Given the description of an element on the screen output the (x, y) to click on. 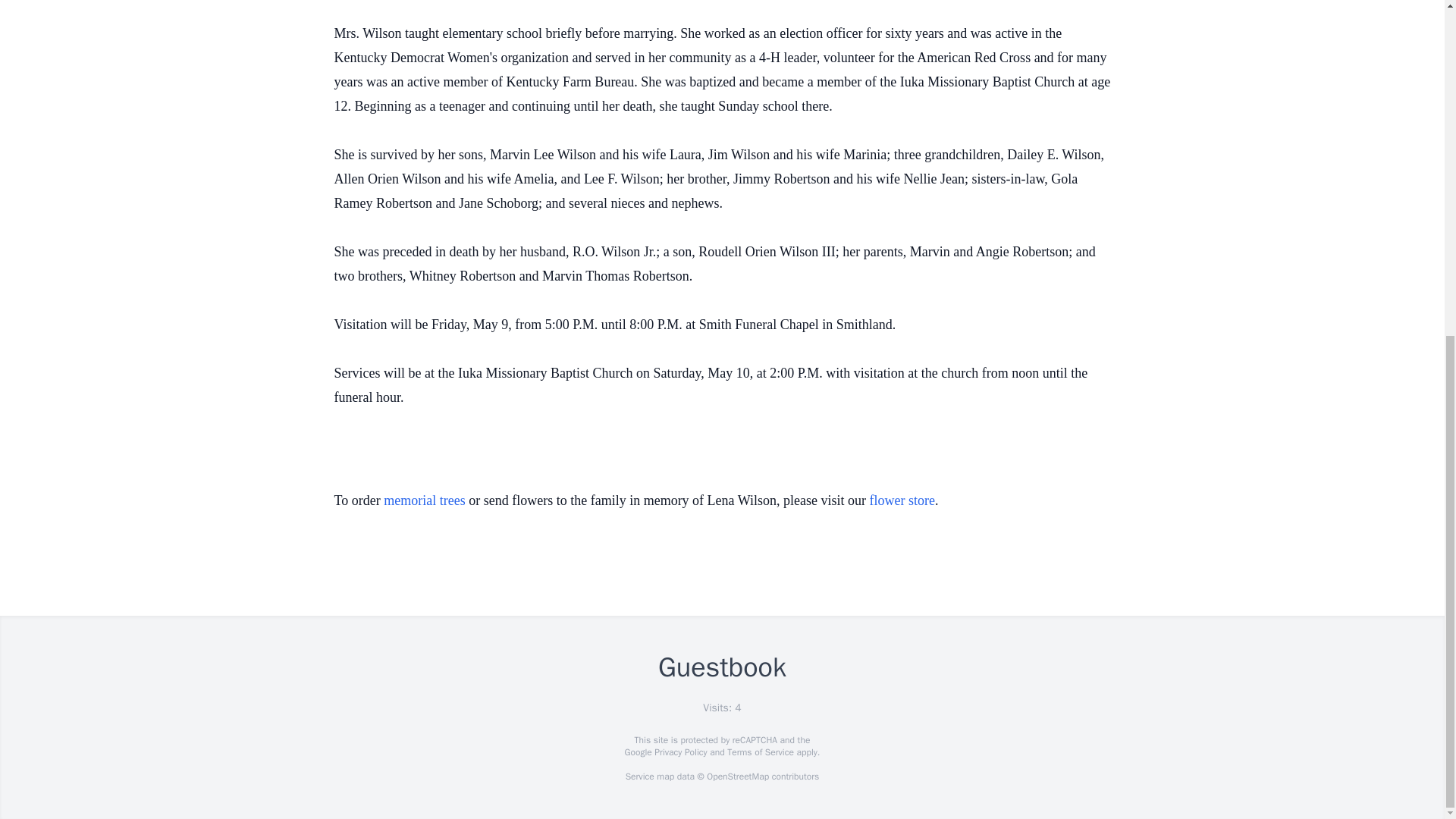
Privacy Policy (679, 752)
OpenStreetMap (737, 776)
Terms of Service (759, 752)
flower store (901, 500)
memorial trees (424, 500)
